Given the description of an element on the screen output the (x, y) to click on. 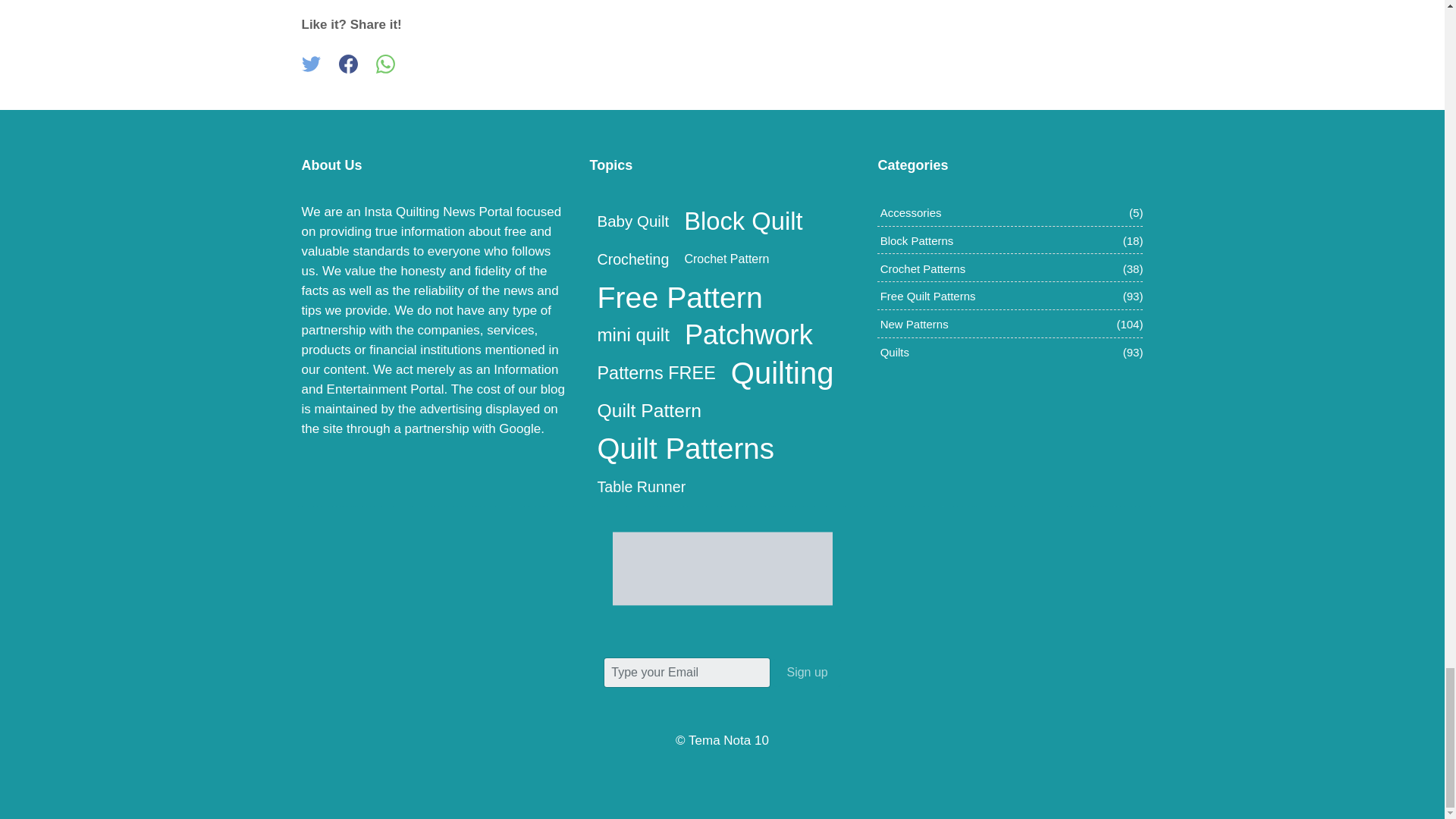
Homepage (722, 568)
Free Quilt Patterns (927, 295)
Accessories (911, 212)
Quilts (894, 351)
Patterns FREE (655, 372)
Patchwork (749, 334)
WhatsApp (384, 63)
Block Patterns (916, 240)
Quilt Patterns (684, 448)
Twitter (310, 63)
